Given the description of an element on the screen output the (x, y) to click on. 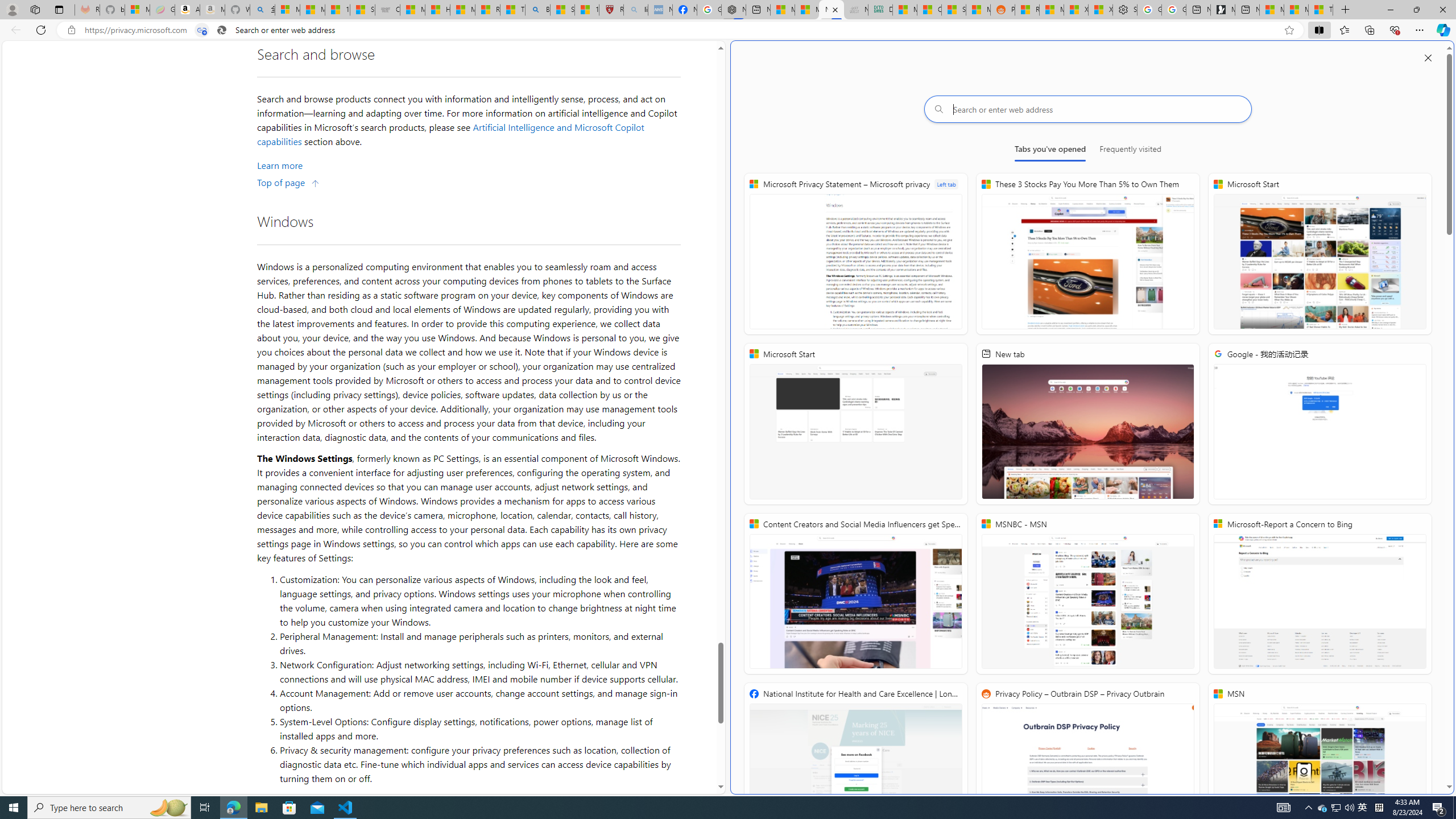
Bing (536, 9)
Recipes - MSN (487, 9)
Artificial Intelligence and Microsoft Copilot capabilities (451, 133)
